Given the description of an element on the screen output the (x, y) to click on. 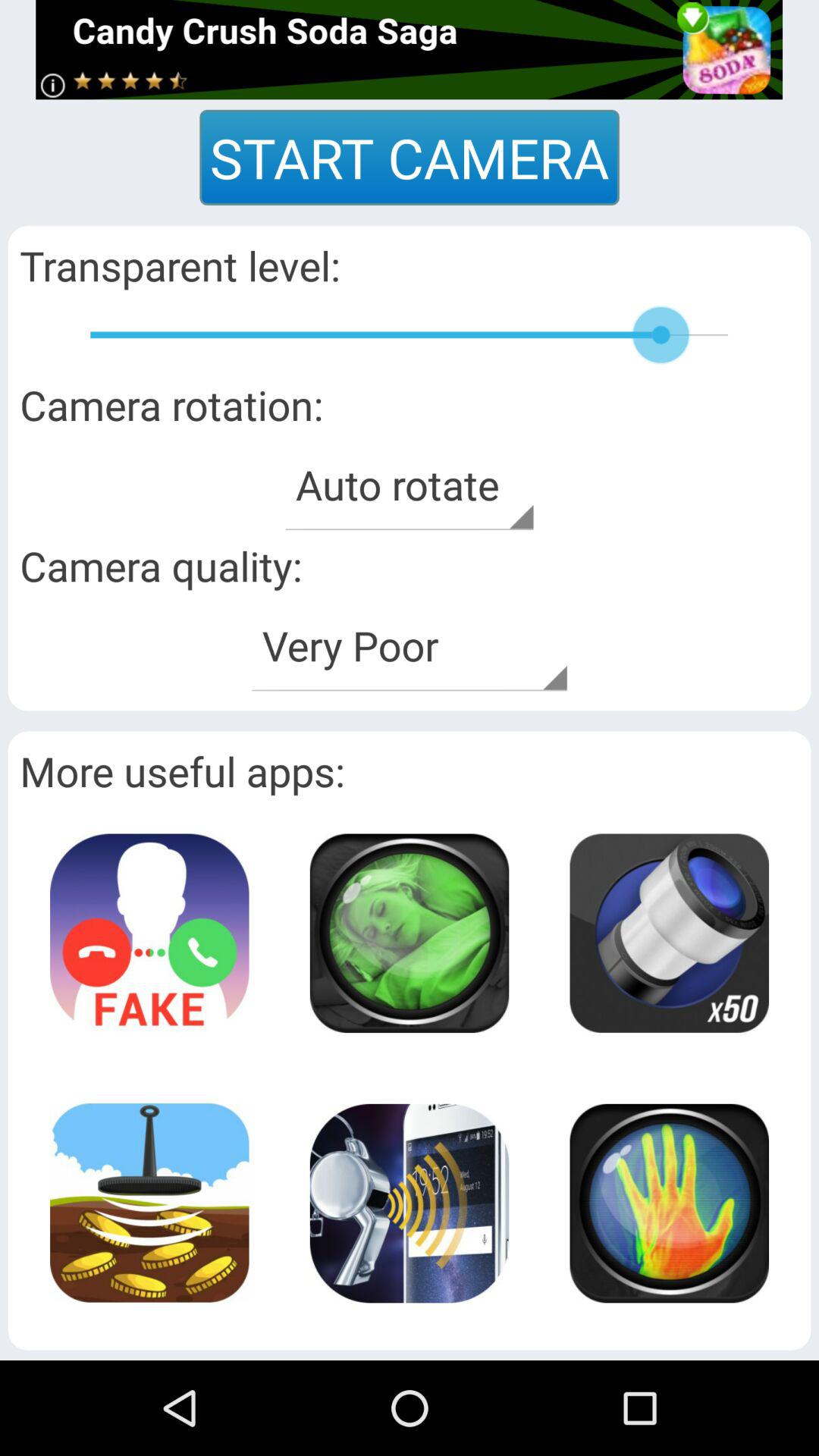
zoom 50x (668, 932)
